Given the description of an element on the screen output the (x, y) to click on. 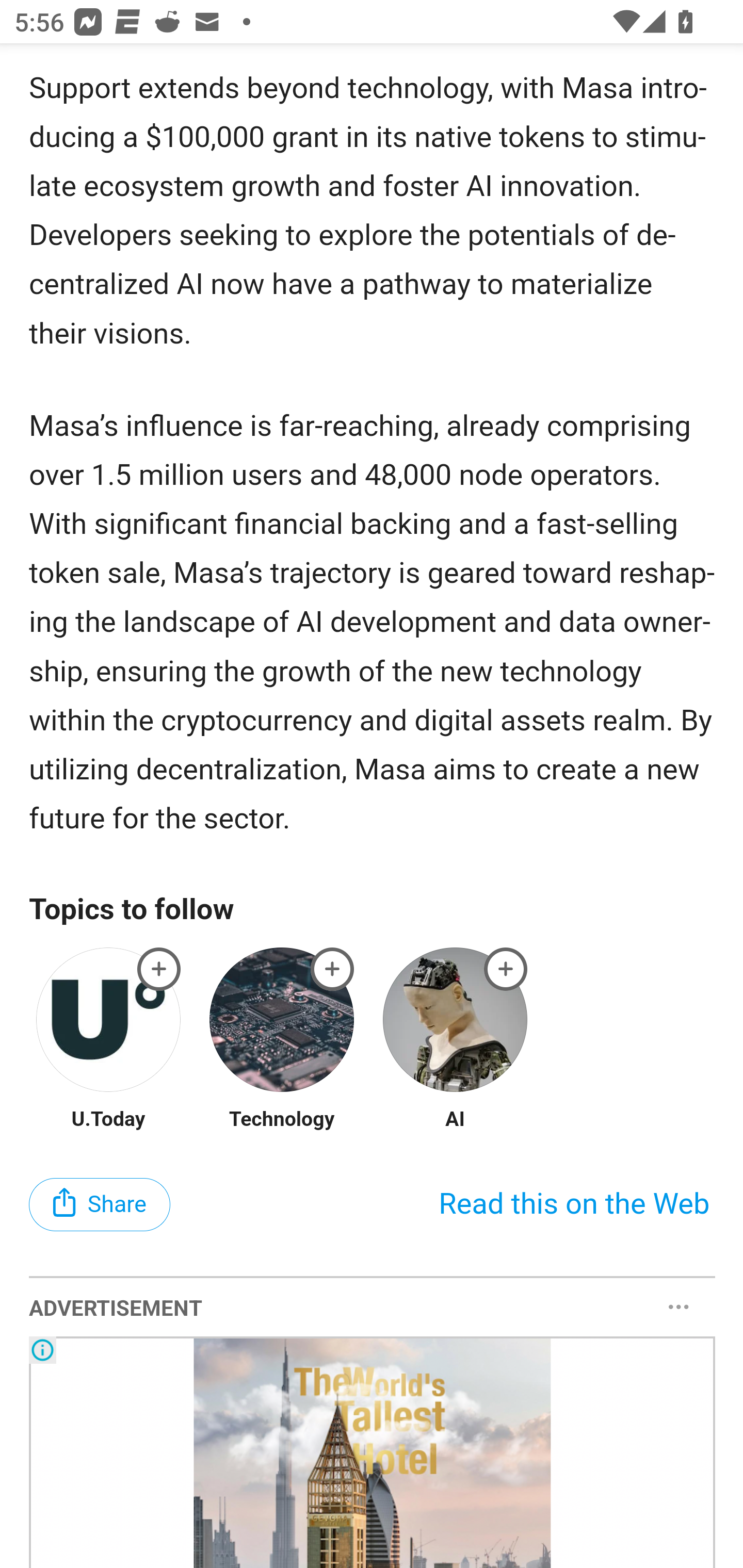
U.Today (107, 1120)
Technology (281, 1120)
AI (454, 1120)
Read this on the Web (573, 1204)
Share (99, 1204)
